Given the description of an element on the screen output the (x, y) to click on. 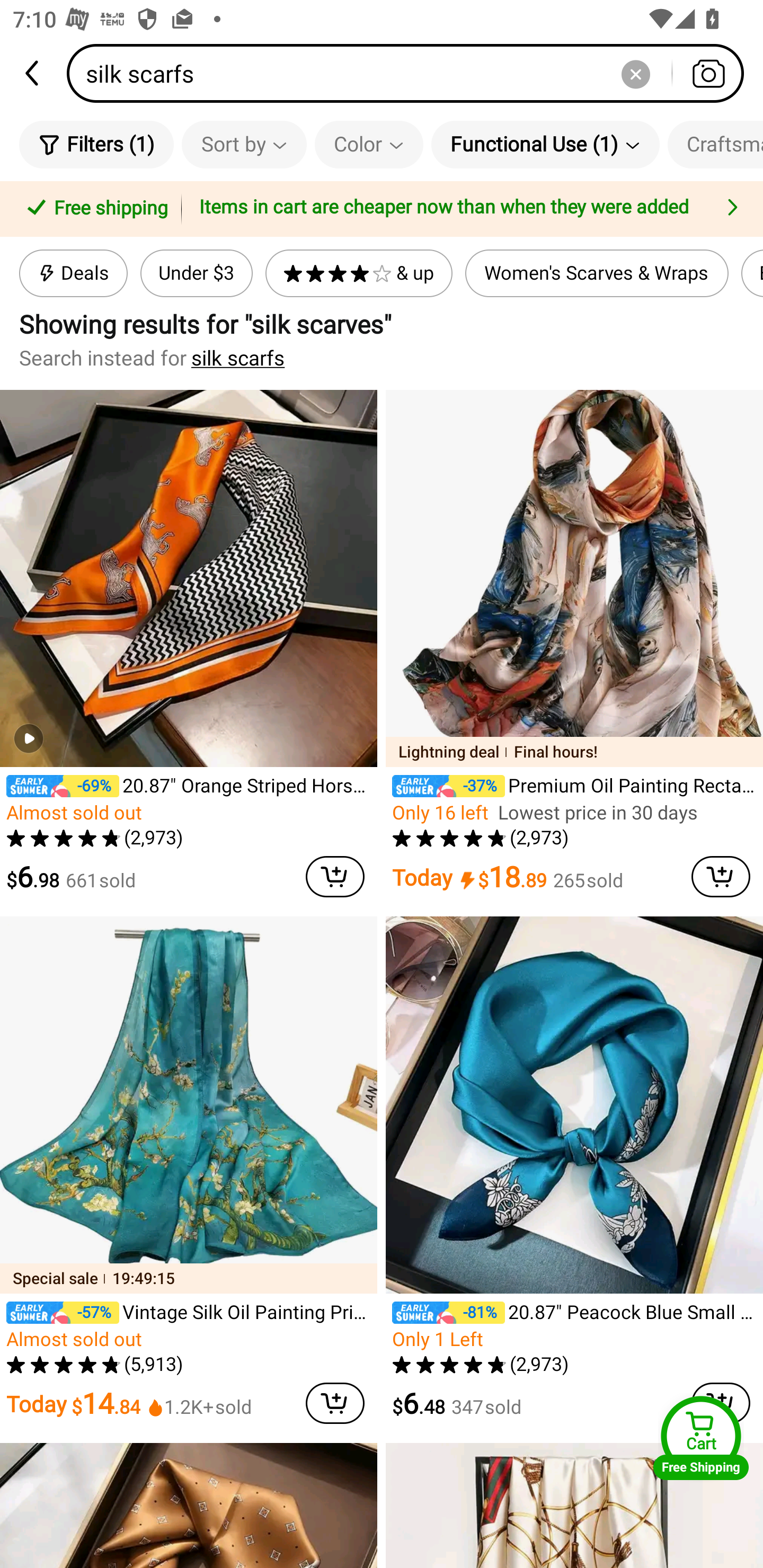
back (33, 72)
silk scarfs (411, 73)
Delete search history (635, 73)
Search by photo (708, 73)
Filters (1) (96, 143)
Sort by (243, 143)
Color (368, 143)
Functional Use (1) (545, 143)
Craftsmanship (715, 143)
 Free shipping (93, 208)
Deals (73, 273)
Under $3 (196, 273)
& up (358, 273)
Women's Scarves & Wraps (596, 273)
silk scarfs (238, 358)
Cart Free Shipping Cart (701, 1437)
